Given the description of an element on the screen output the (x, y) to click on. 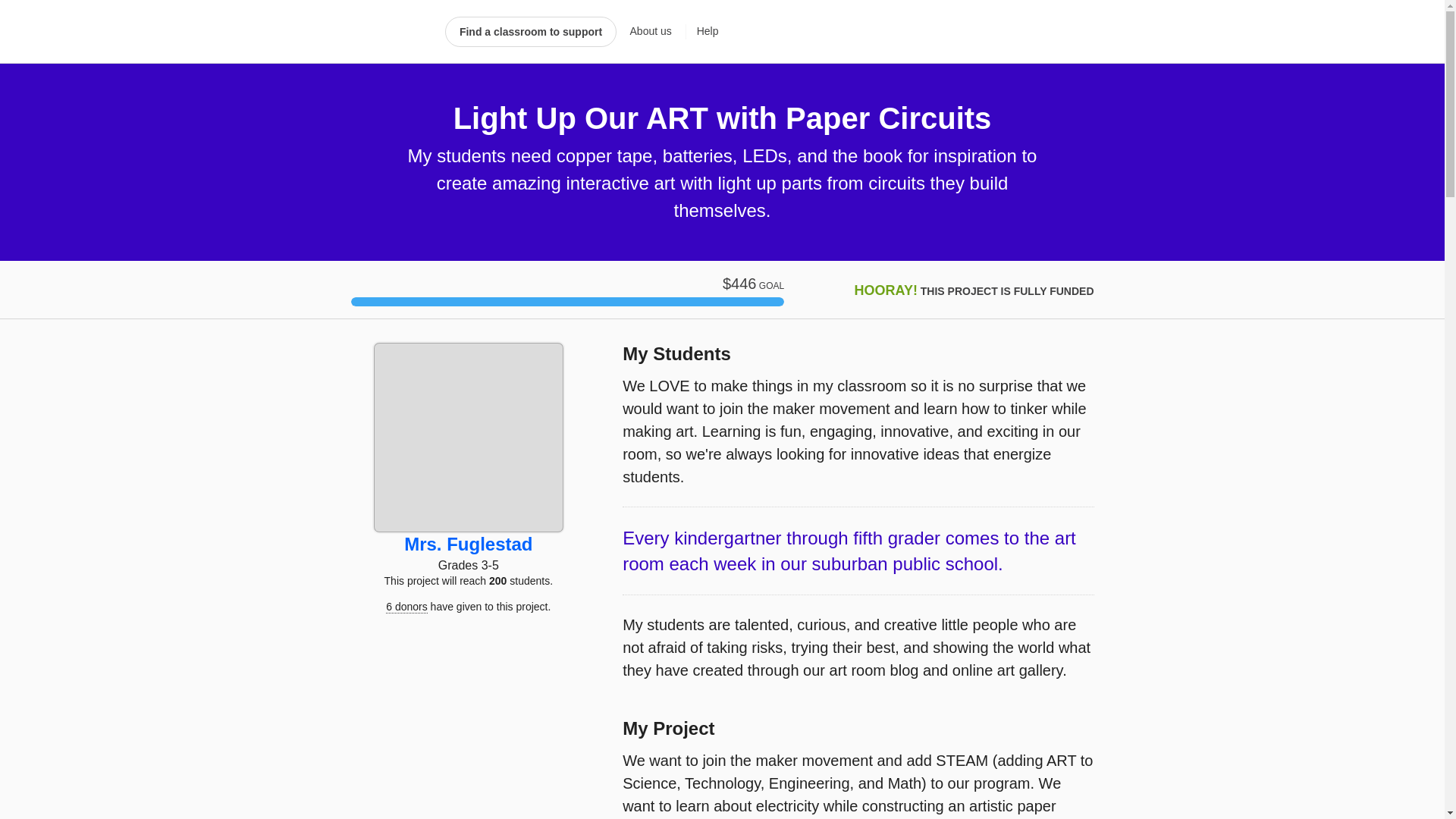
Find a classroom to support (530, 31)
Help (702, 31)
See this teacher's page (468, 437)
DonorsChoose (390, 31)
See this teacher's page (468, 543)
About us (650, 31)
